Given the description of an element on the screen output the (x, y) to click on. 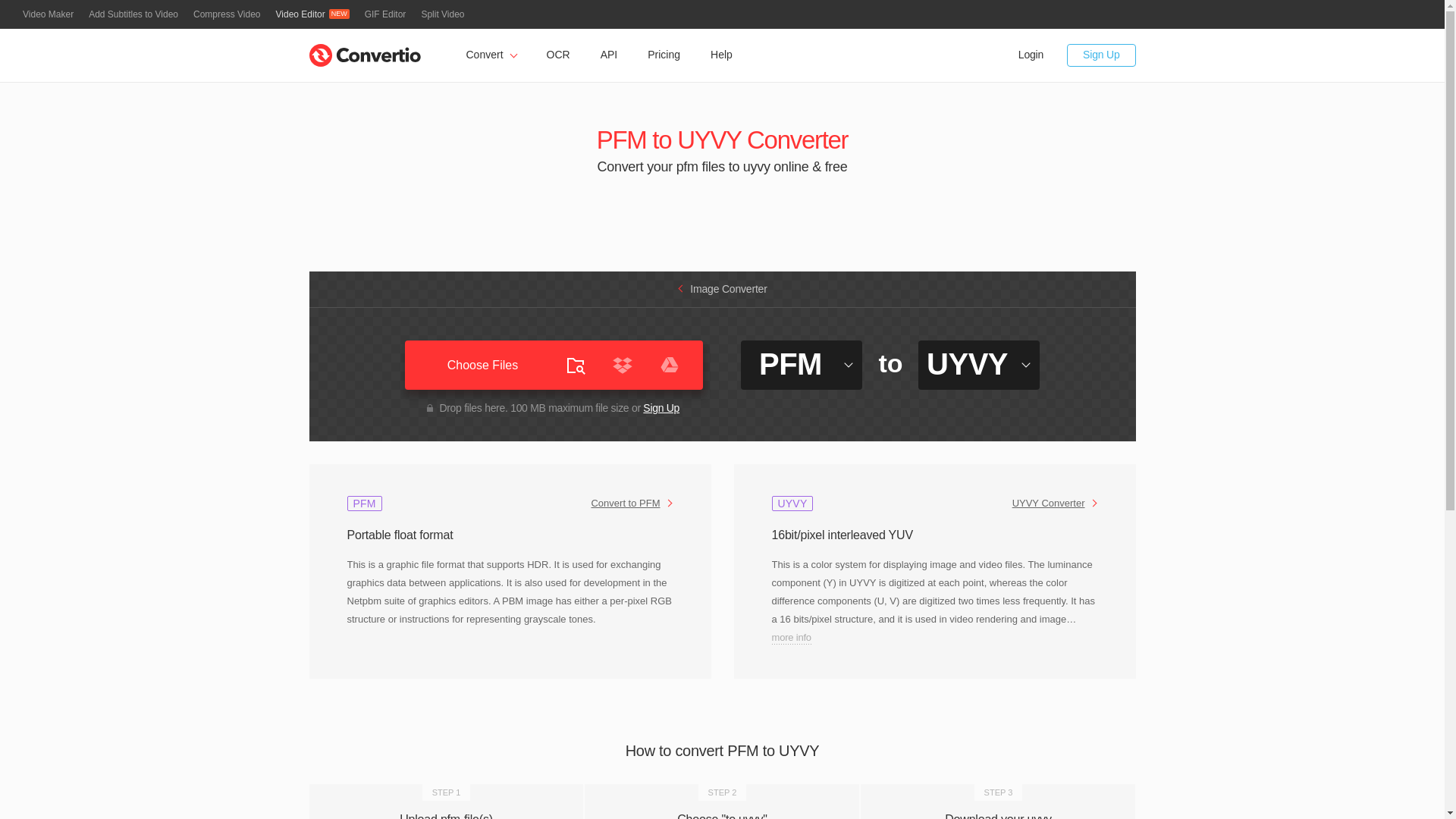
UYVY Converter (1054, 503)
Compress Video (226, 14)
Sign Up (1101, 55)
Pricing (663, 54)
API (609, 54)
Add Subtitles to Video (132, 14)
Video Maker (48, 14)
Split Video (442, 14)
Help (721, 54)
Login (1031, 55)
